Given the description of an element on the screen output the (x, y) to click on. 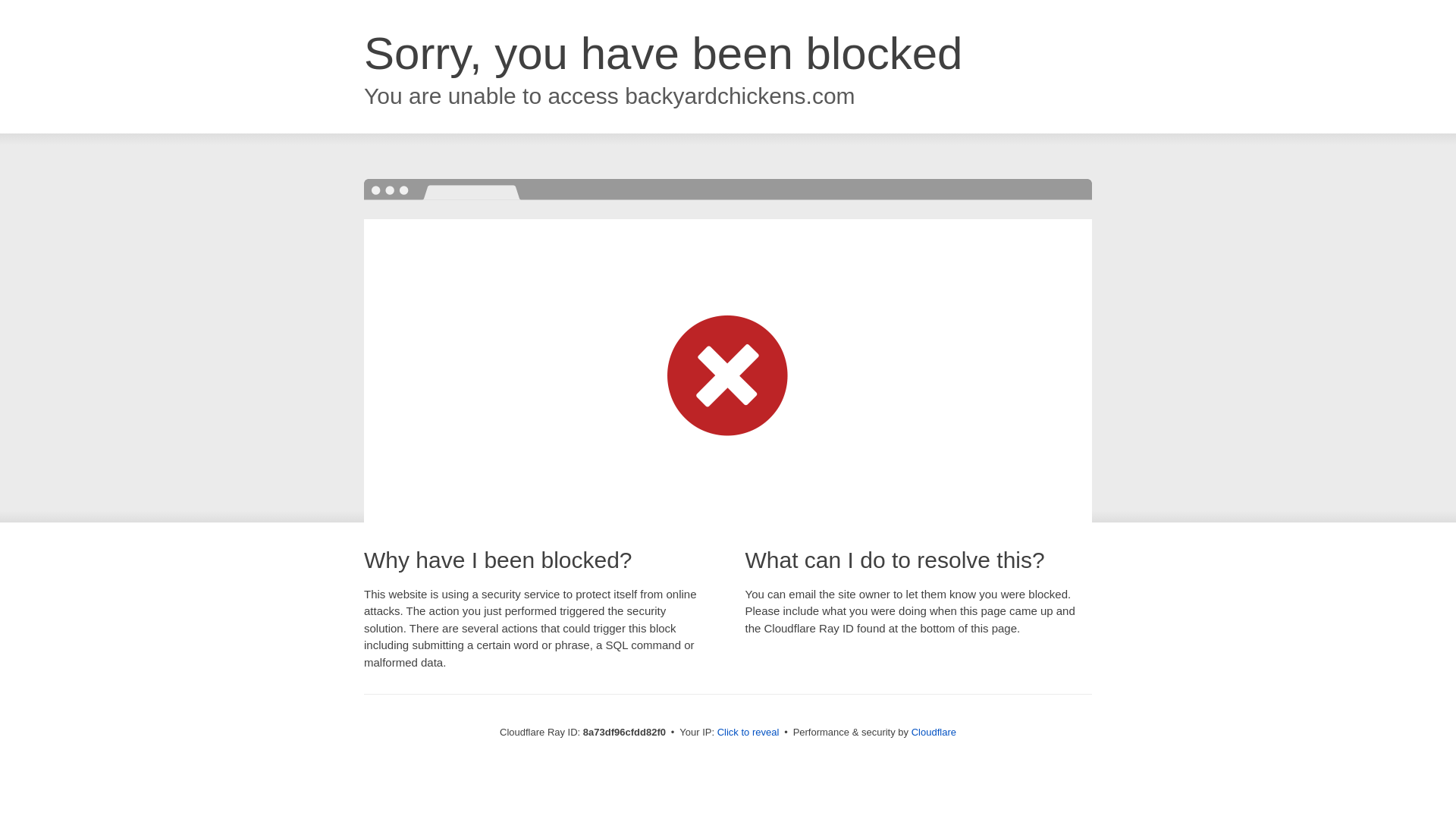
Cloudflare (933, 731)
Click to reveal (747, 732)
